Given the description of an element on the screen output the (x, y) to click on. 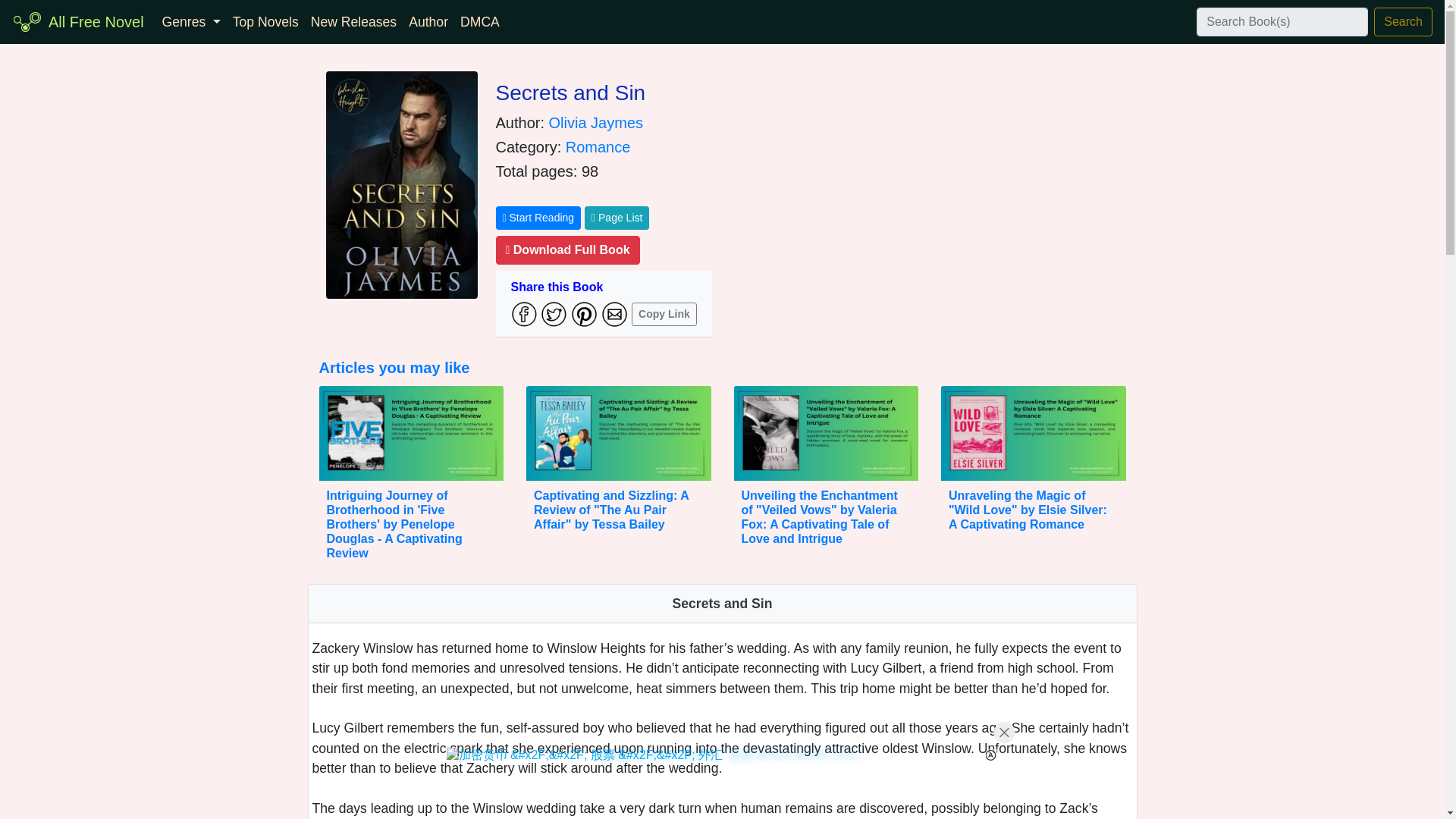
Category (191, 21)
All Free Novel (96, 21)
Page List (617, 218)
New Releases (353, 21)
Top Books (265, 21)
Download Full Book (568, 249)
Search (1403, 21)
Top Novels (265, 21)
Articles you may like (393, 367)
Secrets and Sin (571, 92)
Copy Link (664, 313)
Olivia Jaymes (595, 122)
Author (428, 21)
Romance (598, 146)
Author List (428, 21)
